Given the description of an element on the screen output the (x, y) to click on. 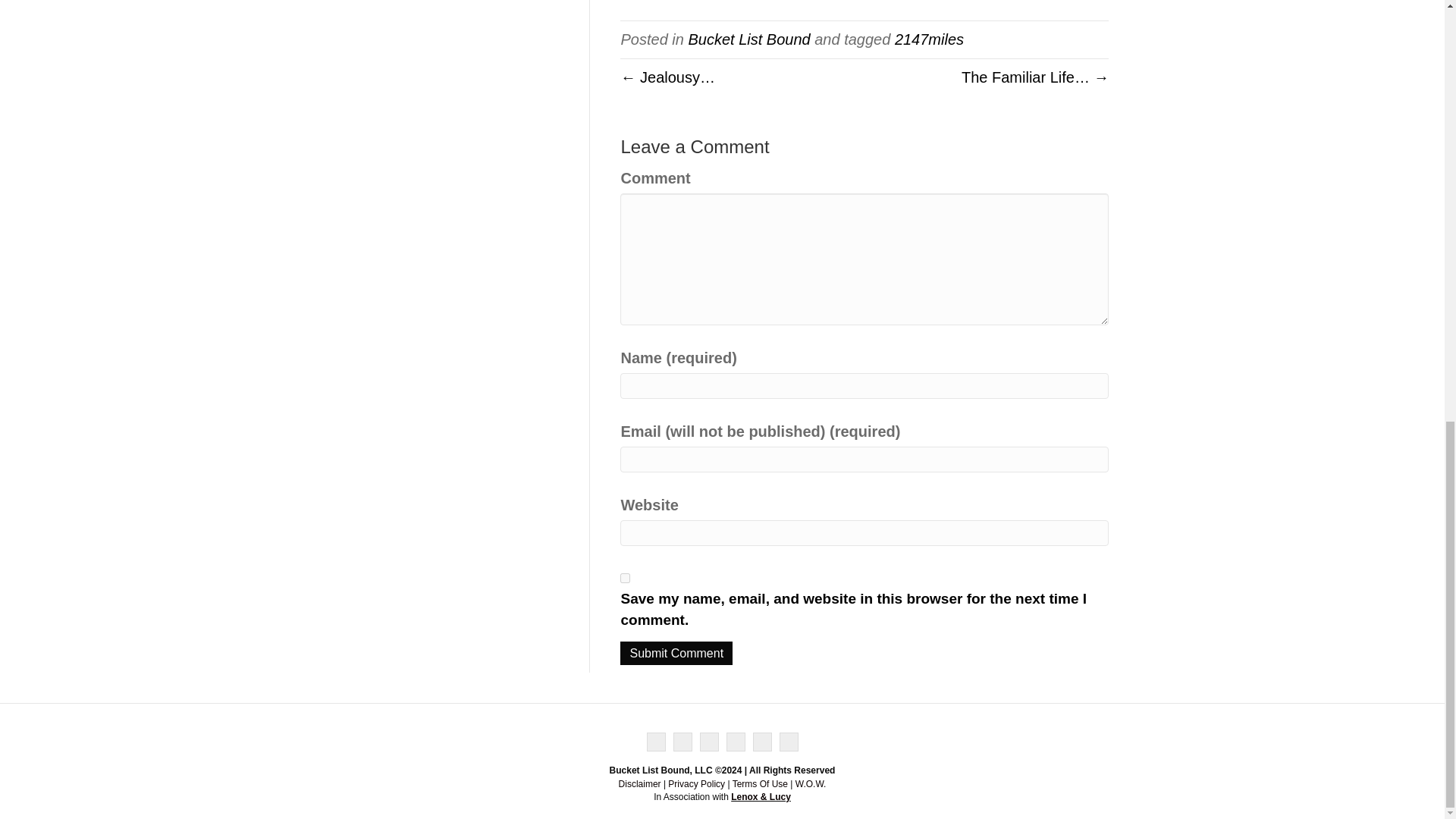
yes (625, 578)
2147miles (929, 39)
Submit Comment (676, 653)
Bucket List Bound (748, 39)
Submit Comment (676, 653)
